Given the description of an element on the screen output the (x, y) to click on. 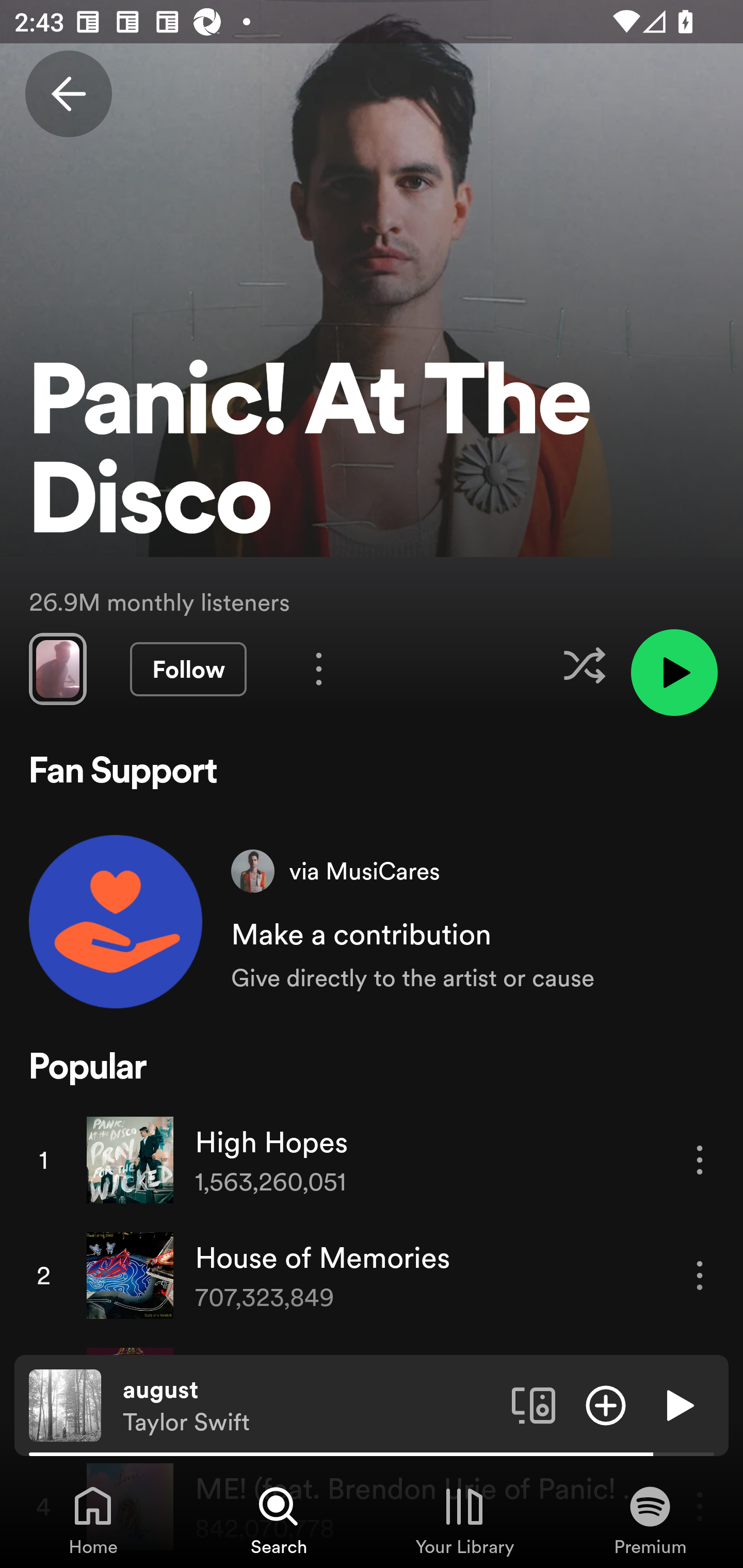
Back (68, 93)
Enable shuffle for this artist (583, 665)
Swipe through previews of tracks from this artist. (57, 668)
More options for artist Panic! At The Disco (318, 668)
Play artist (674, 672)
Follow (188, 669)
More options for song High Hopes (699, 1159)
More options for song House of Memories (699, 1275)
august Taylor Swift (309, 1405)
The cover art of the currently playing track (64, 1404)
Connect to a device. Opens the devices menu (533, 1404)
Add item (605, 1404)
Play (677, 1404)
Home, Tab 1 of 4 Home Home (92, 1519)
Search, Tab 2 of 4 Search Search (278, 1519)
Your Library, Tab 3 of 4 Your Library Your Library (464, 1519)
Premium, Tab 4 of 4 Premium Premium (650, 1519)
